Given the description of an element on the screen output the (x, y) to click on. 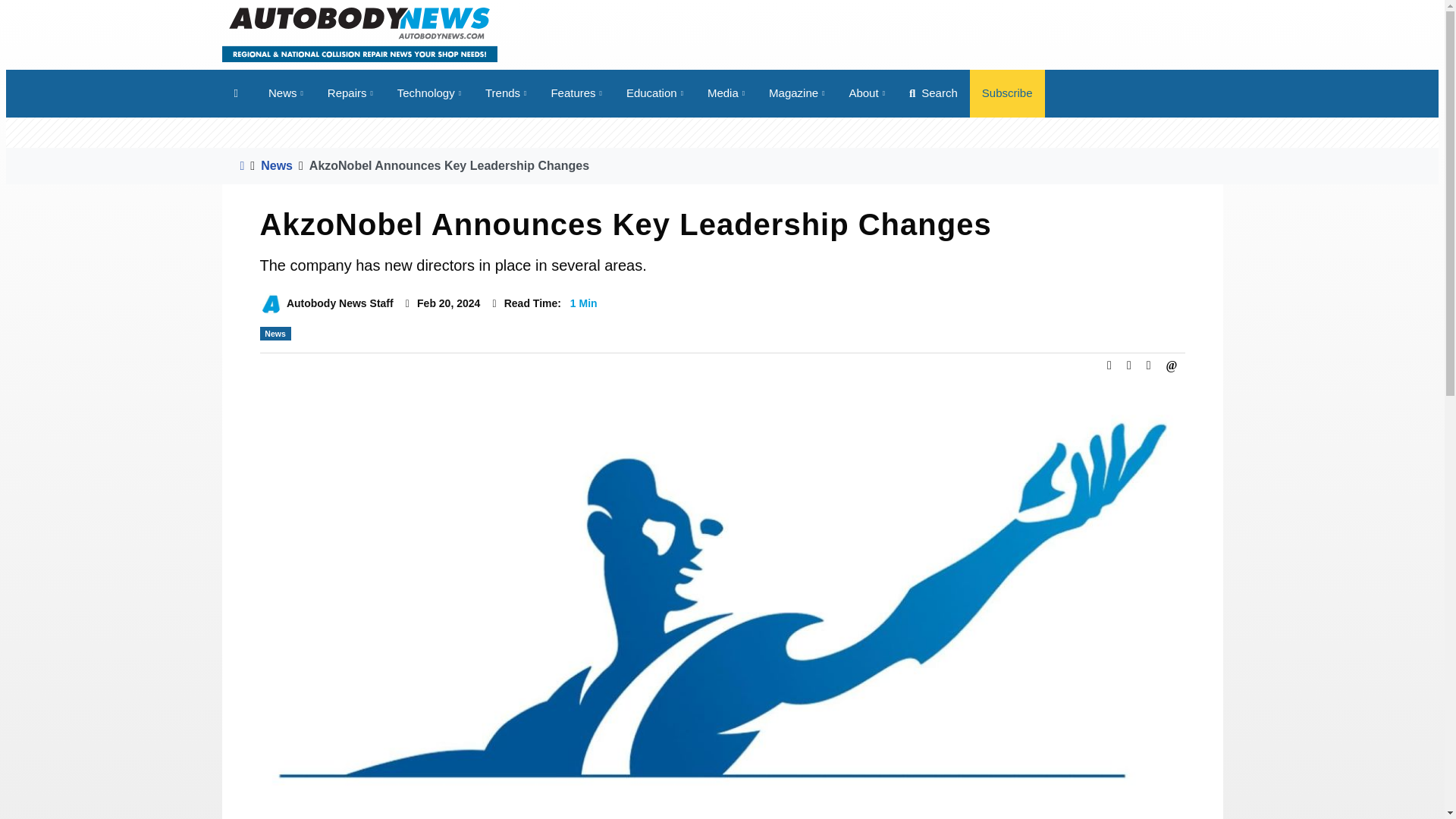
Trends (505, 93)
Autobody News (358, 33)
Features (576, 93)
Share This Article on Facebook (1109, 364)
Estimated time to read (493, 303)
Repairs (350, 93)
Share This Article on Twitter (1128, 364)
Technology (429, 93)
Email This Article (1171, 364)
News (285, 93)
